Given the description of an element on the screen output the (x, y) to click on. 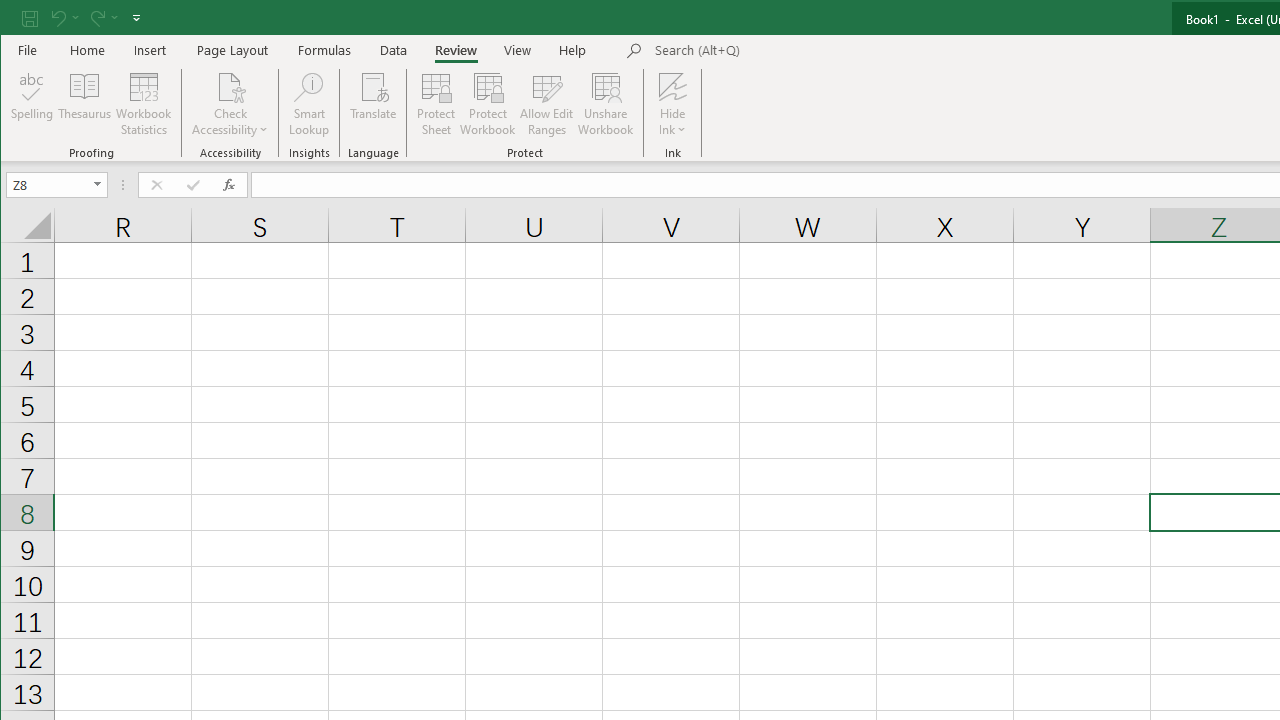
Check Accessibility (230, 86)
Protect Sheet... (436, 104)
Protect Workbook... (488, 104)
Spelling... (32, 104)
Workbook Statistics (143, 104)
